Given the description of an element on the screen output the (x, y) to click on. 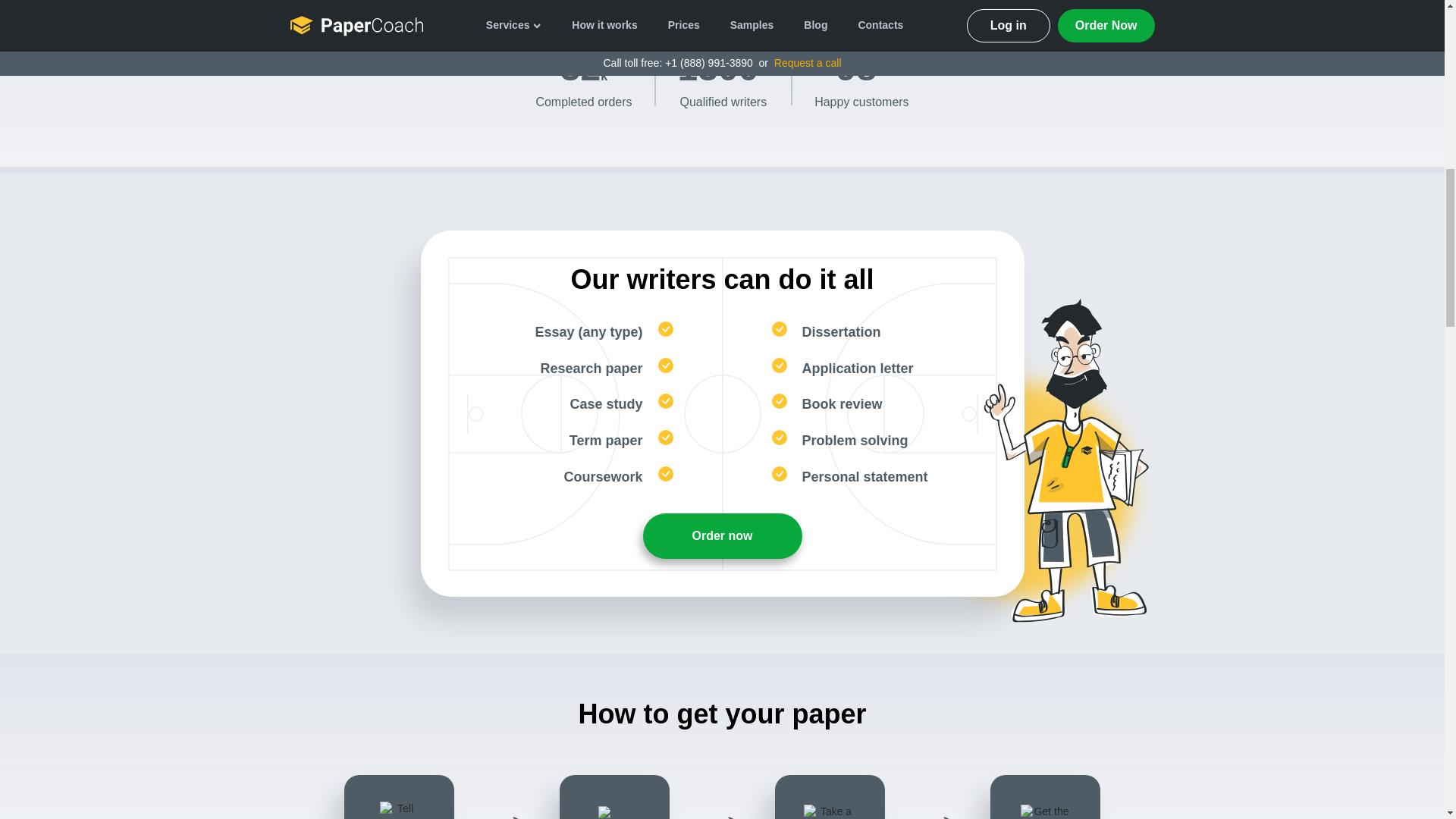
Order now (722, 535)
